Given the description of an element on the screen output the (x, y) to click on. 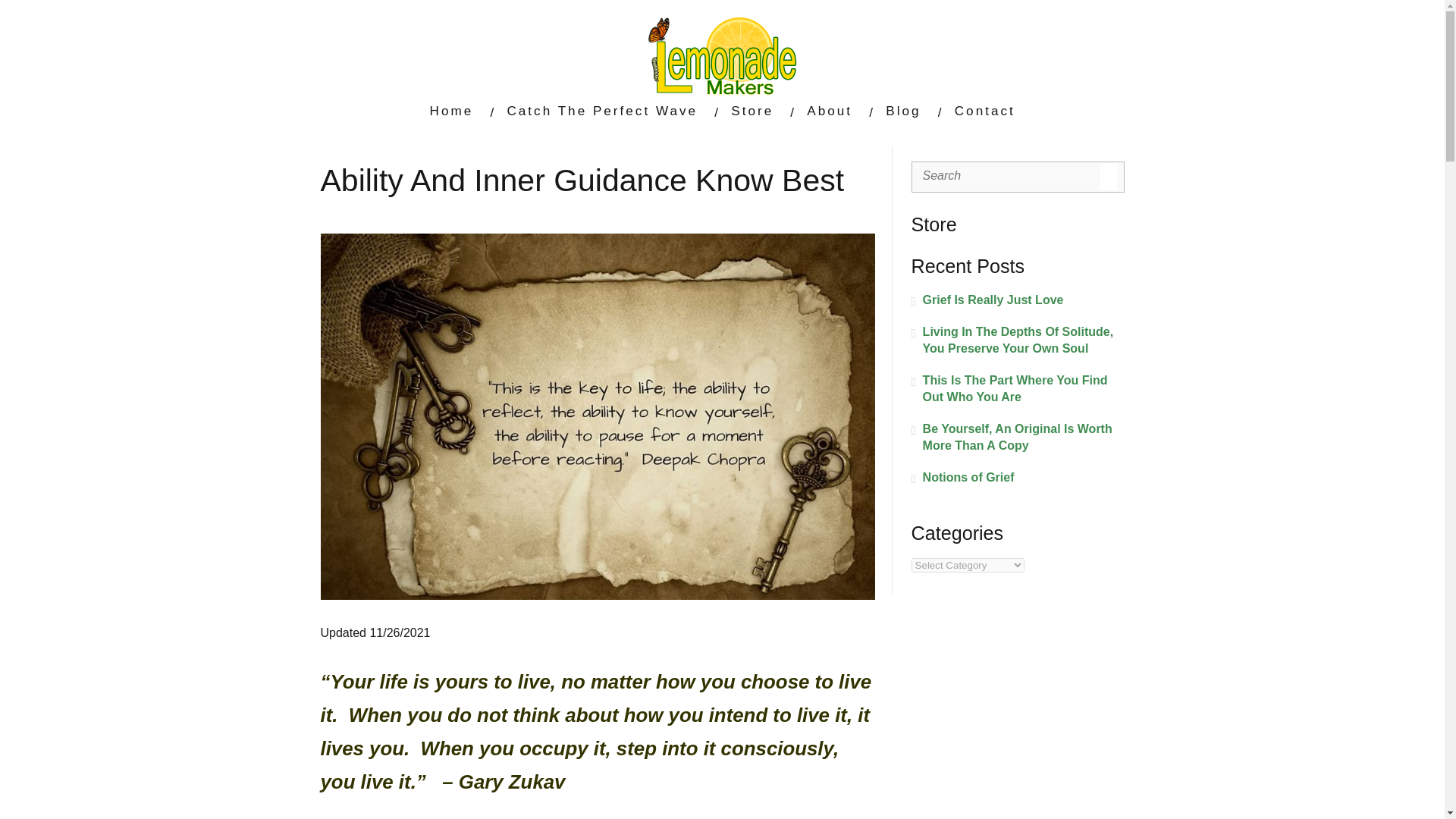
This Is The Part Where You Find Out Who You Are (1017, 388)
Grief Is Really Just Love (1017, 299)
Be Yourself, An Original Is Worth More Than A Copy (1017, 437)
Notions of Grief (1017, 477)
Store (751, 110)
About (829, 110)
Contact (984, 110)
Home (452, 110)
Catch The Perfect Wave (601, 110)
Living In The Depths Of Solitude, You Preserve Your Own Soul (1017, 340)
